Given the description of an element on the screen output the (x, y) to click on. 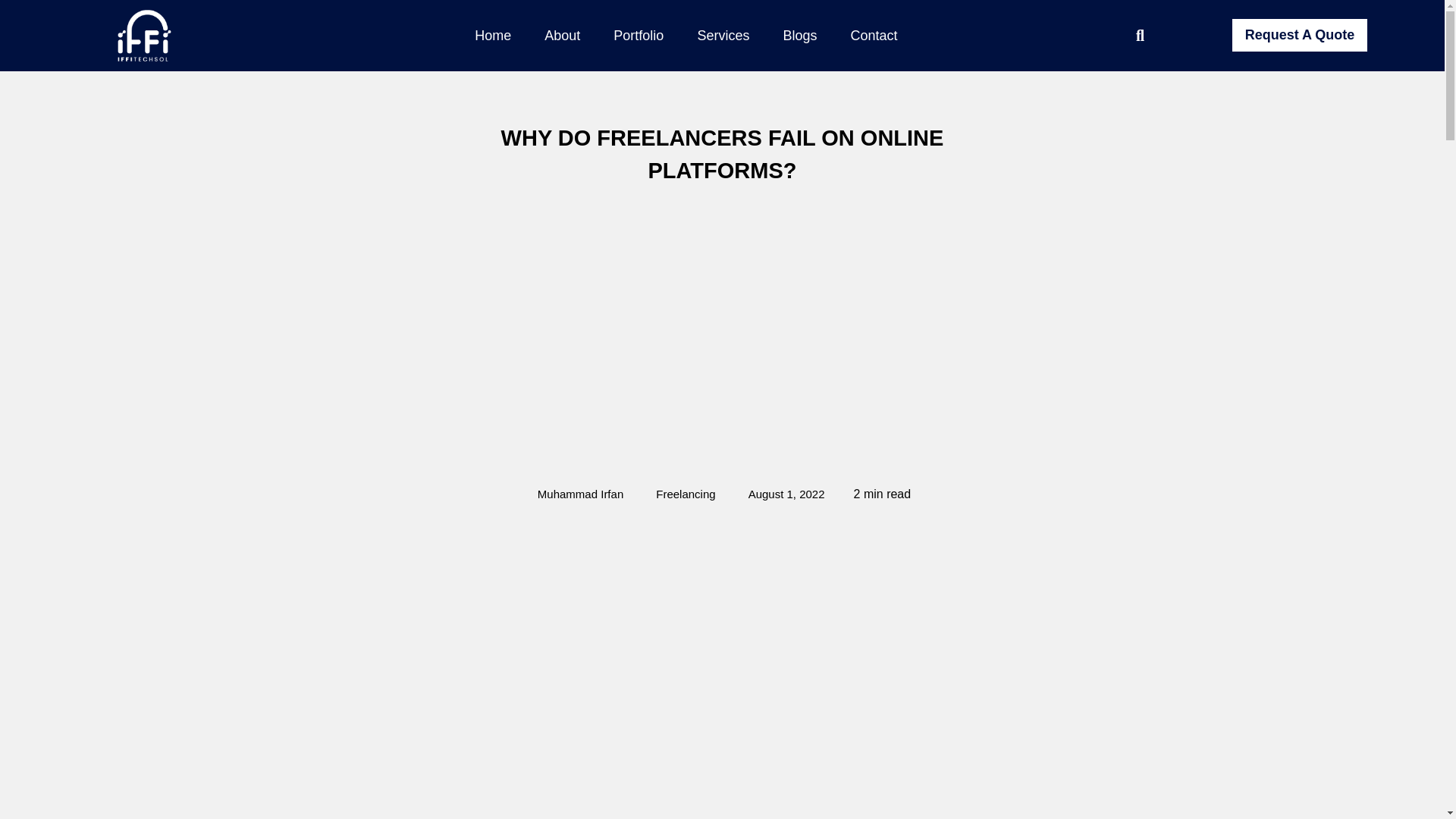
Contact (873, 35)
About (561, 35)
Blogs (799, 35)
Portfolio (638, 35)
Home (492, 35)
Services (722, 35)
